Given the description of an element on the screen output the (x, y) to click on. 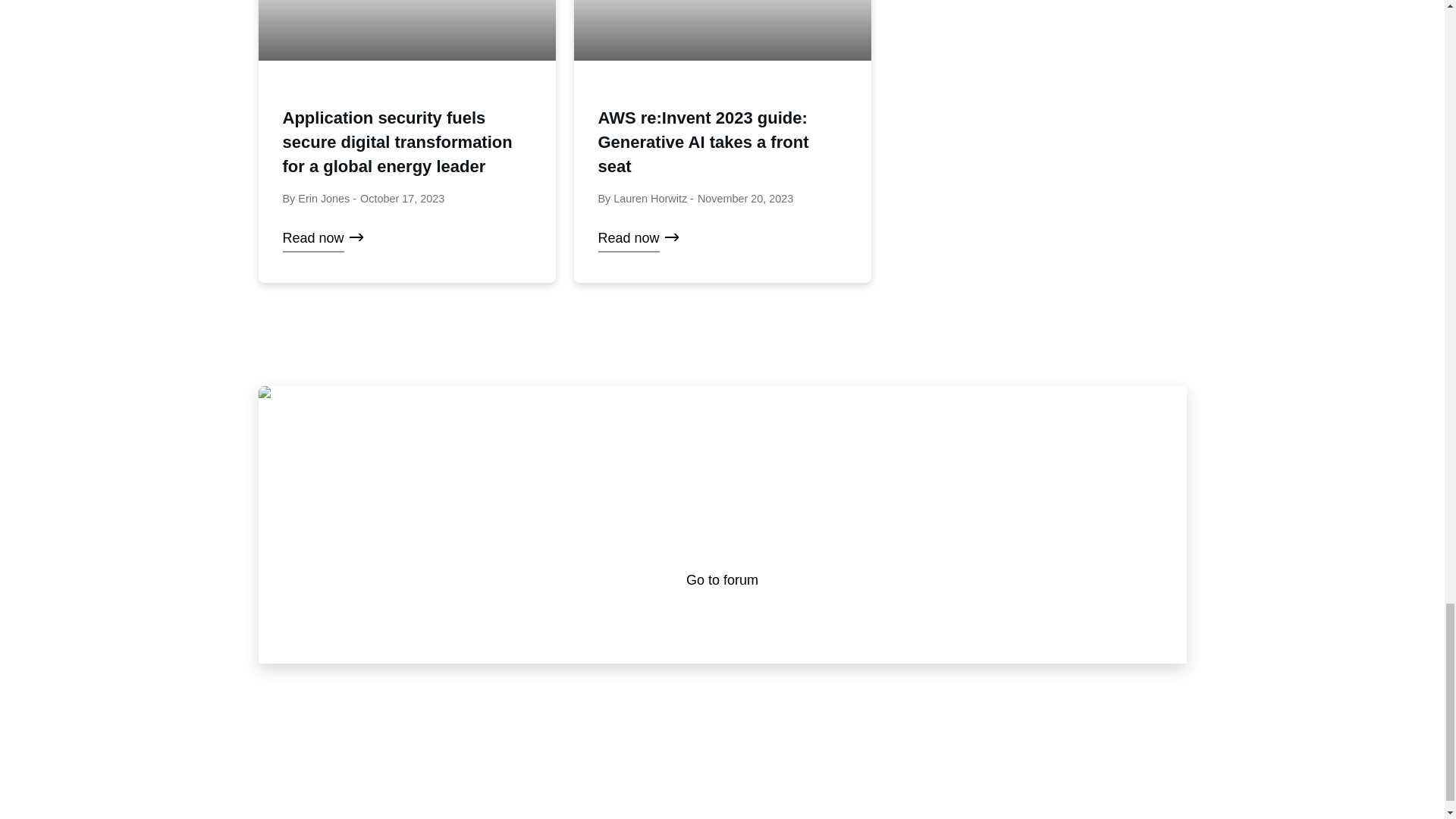
Go to forum (722, 579)
